Given the description of an element on the screen output the (x, y) to click on. 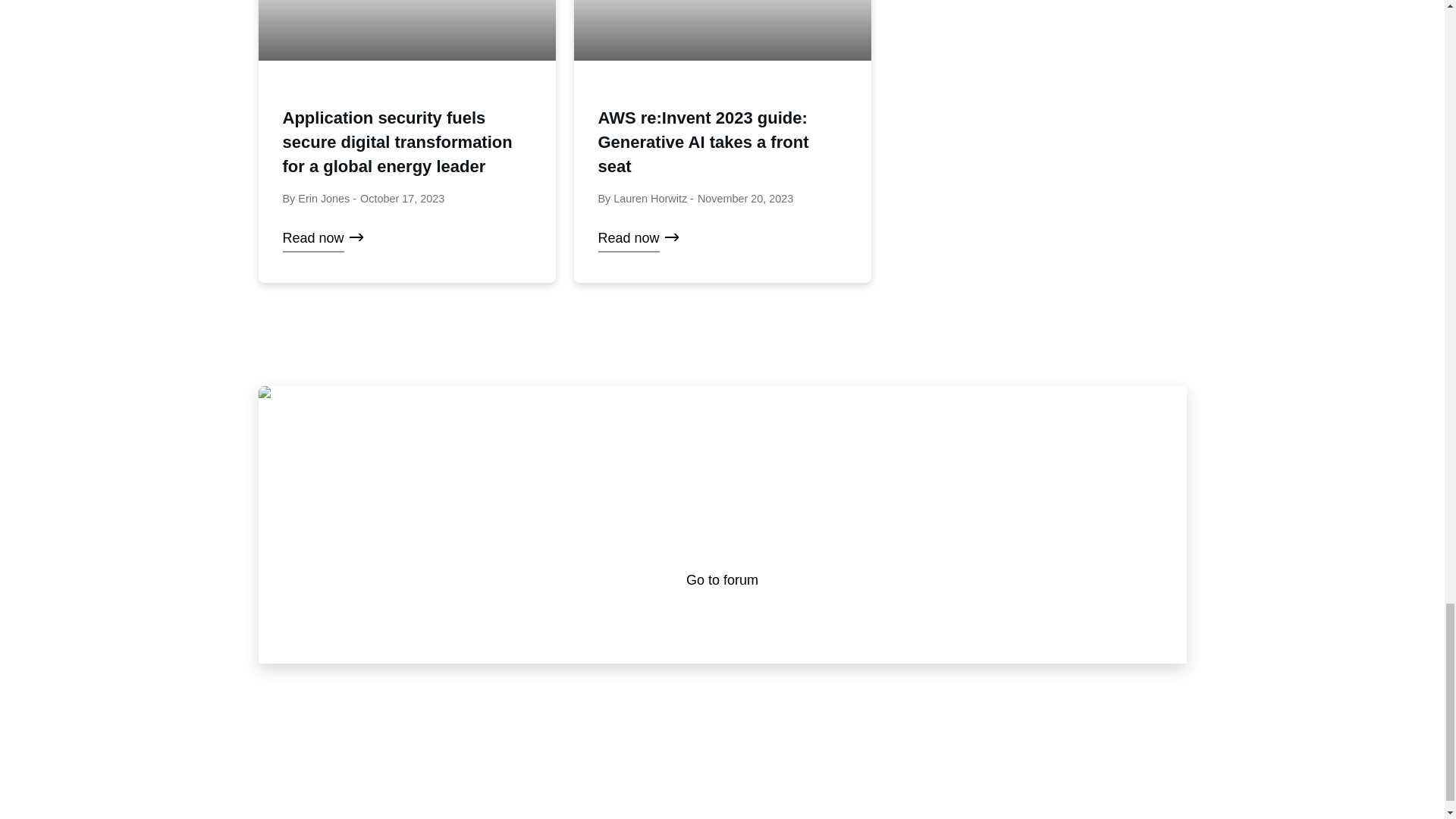
Go to forum (722, 579)
